Given the description of an element on the screen output the (x, y) to click on. 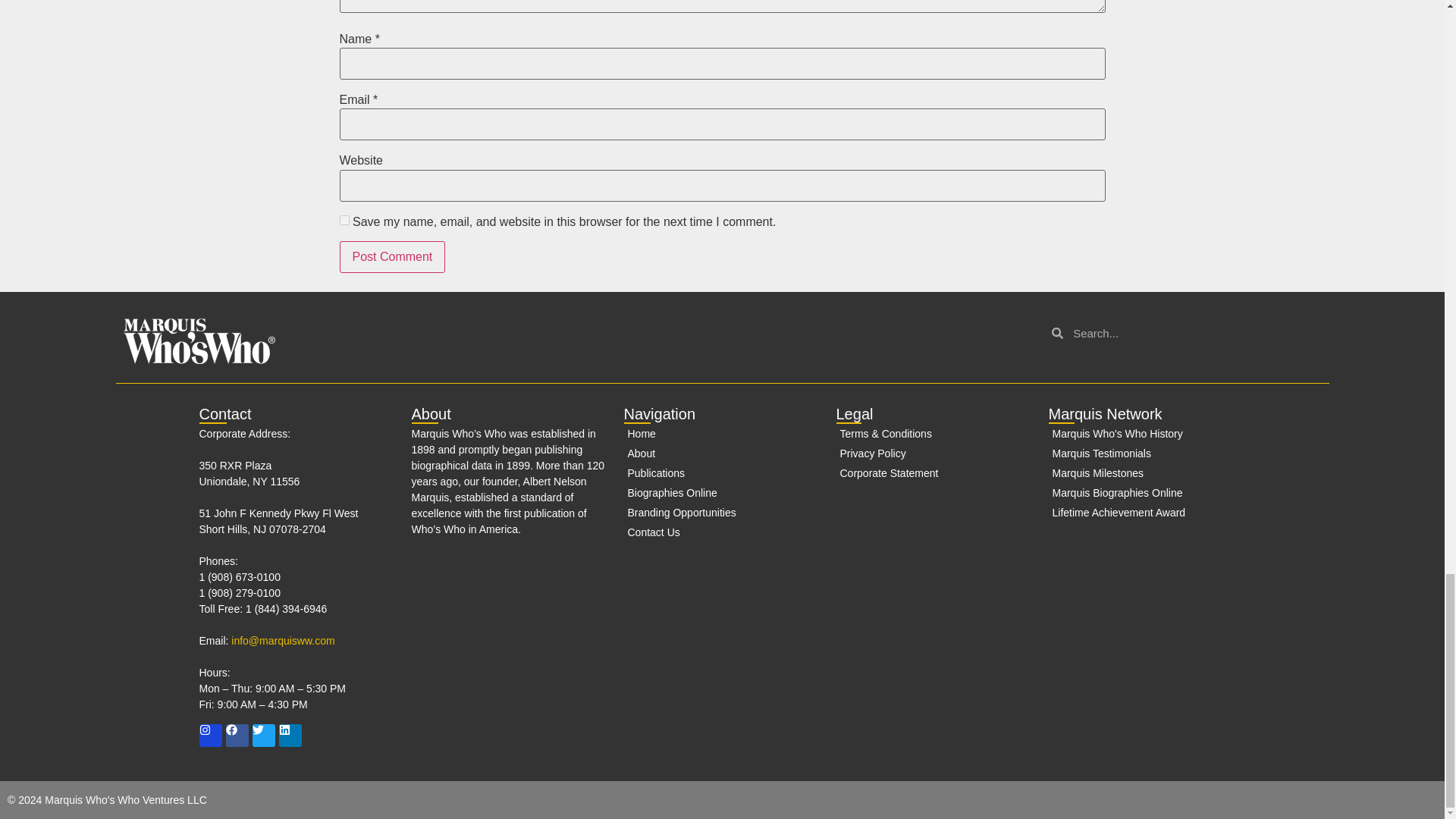
Post Comment (392, 256)
Post Comment (392, 256)
yes (344, 220)
